Given the description of an element on the screen output the (x, y) to click on. 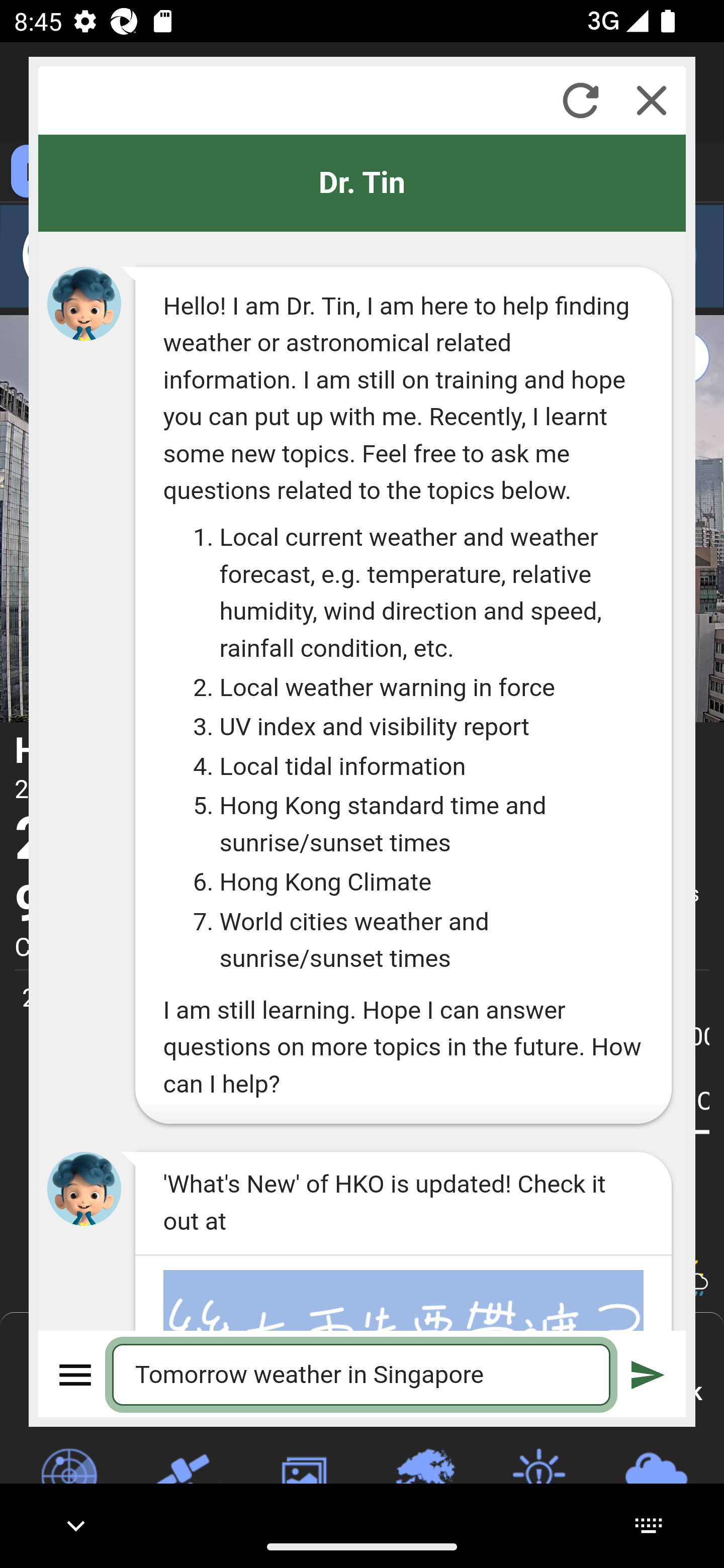
Refresh (580, 100)
Close (651, 100)
Menu (75, 1374)
Submit (648, 1374)
Tomorrow weather in Singapore (361, 1374)
